Given the description of an element on the screen output the (x, y) to click on. 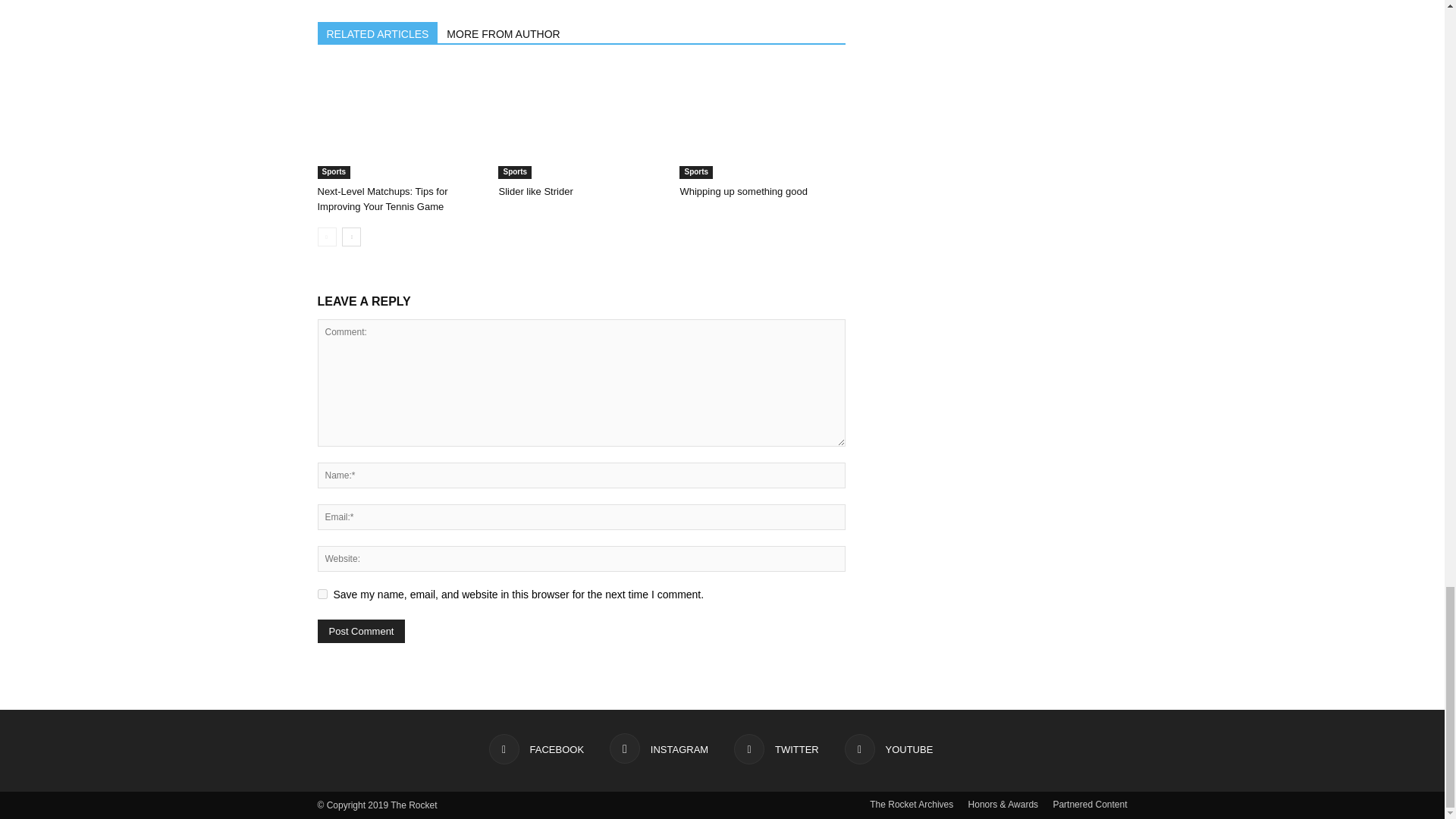
Next-Level Matchups: Tips for Improving Your Tennis Game (381, 198)
Next-Level Matchups: Tips for Improving Your Tennis Game (399, 122)
yes (321, 593)
Post Comment (360, 630)
Slider like Strider (580, 122)
